Given the description of an element on the screen output the (x, y) to click on. 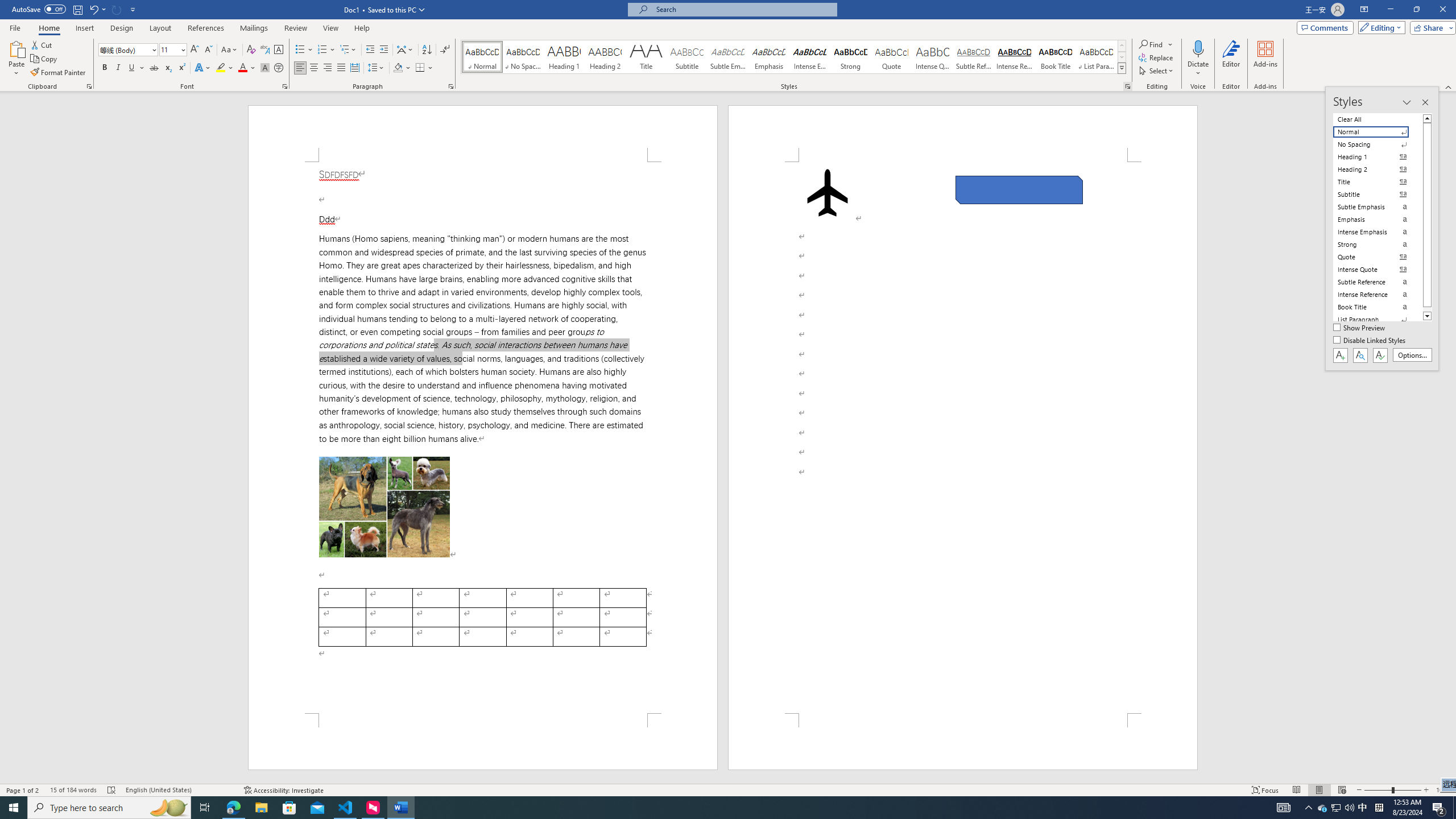
Cut (42, 44)
Font Color RGB(255, 0, 0) (241, 67)
Subtle Reference (973, 56)
Office Clipboard... (88, 85)
Borders (424, 67)
Underline (136, 67)
Font Color (246, 67)
Normal (1377, 131)
Show Preview (1360, 328)
Character Border (278, 49)
Zoom In (1426, 790)
Subtitle (686, 56)
Font (124, 49)
Task Pane Options (1406, 101)
